Given the description of an element on the screen output the (x, y) to click on. 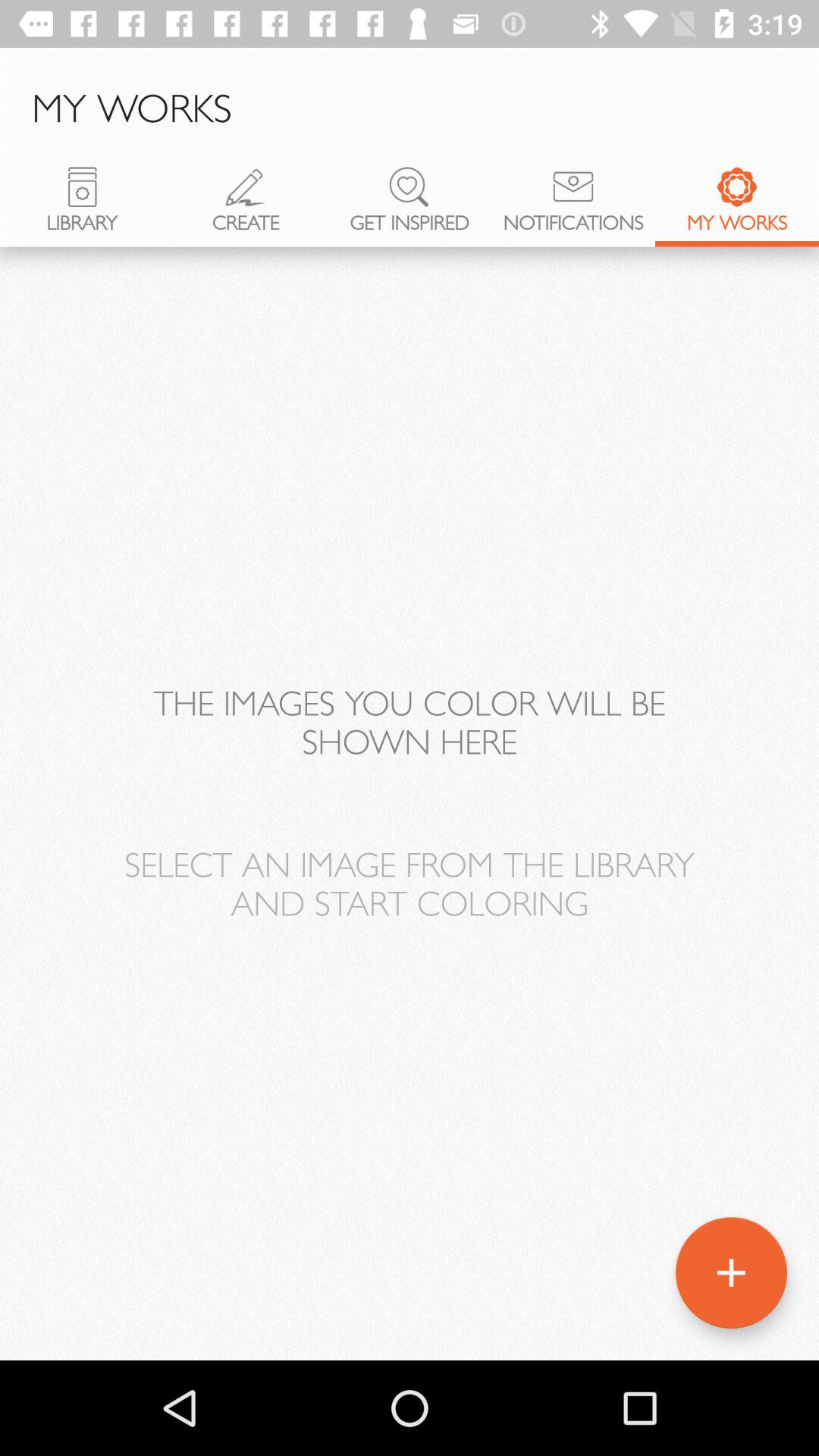
turn off icon below select an image (731, 1272)
